Given the description of an element on the screen output the (x, y) to click on. 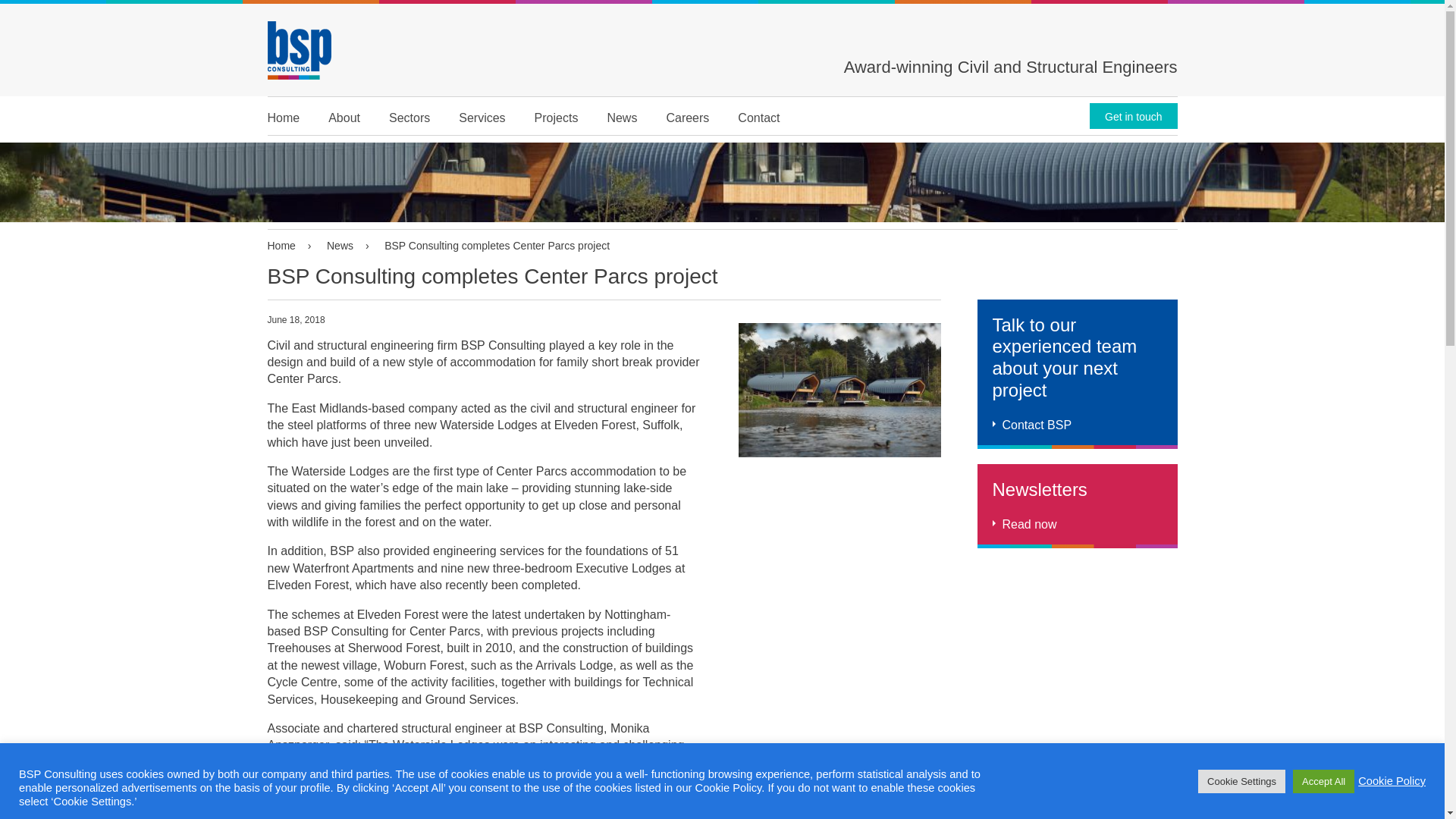
Services (481, 116)
Sectors (408, 116)
